Given the description of an element on the screen output the (x, y) to click on. 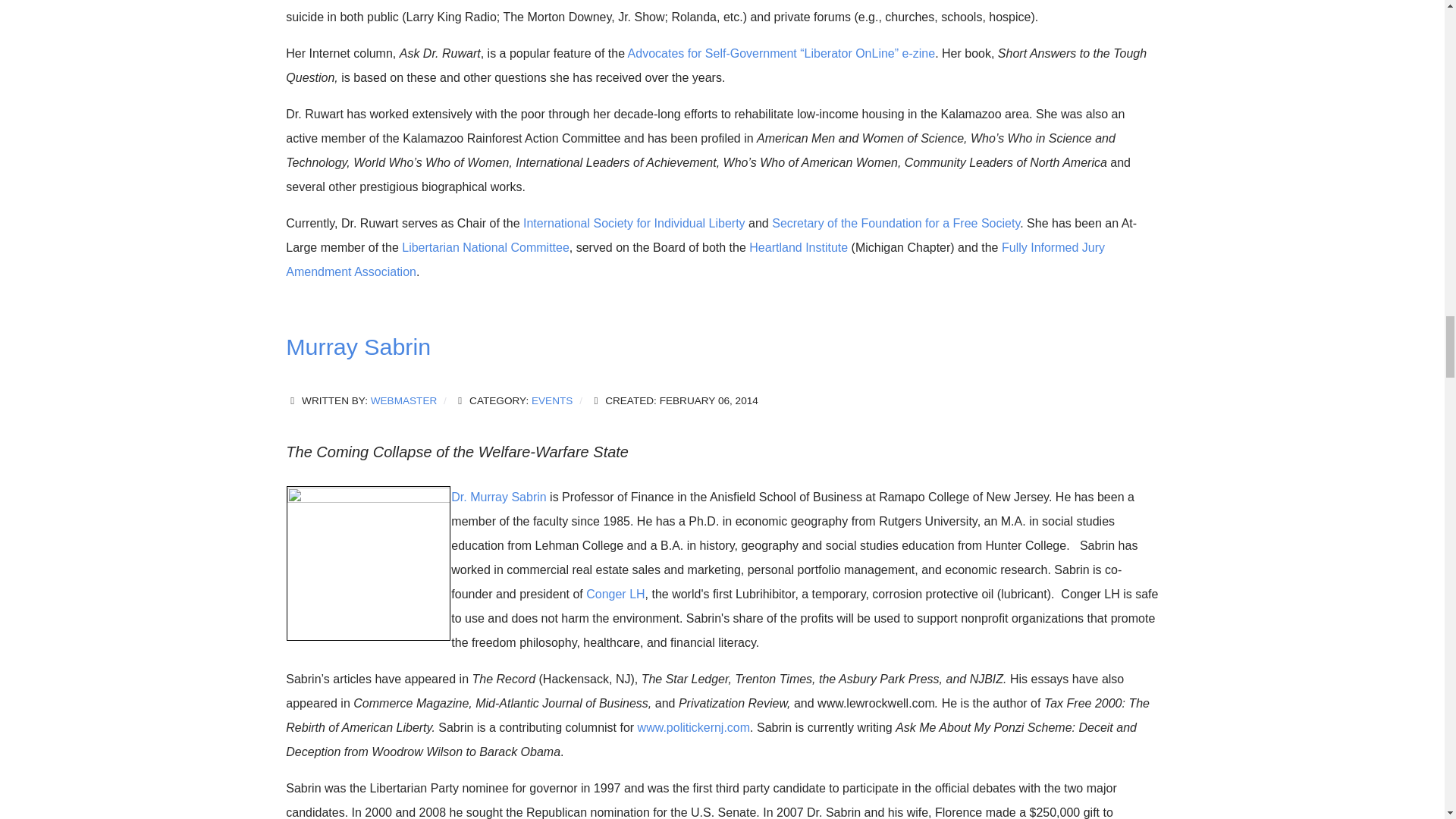
RJLehmann (367, 563)
